Given the description of an element on the screen output the (x, y) to click on. 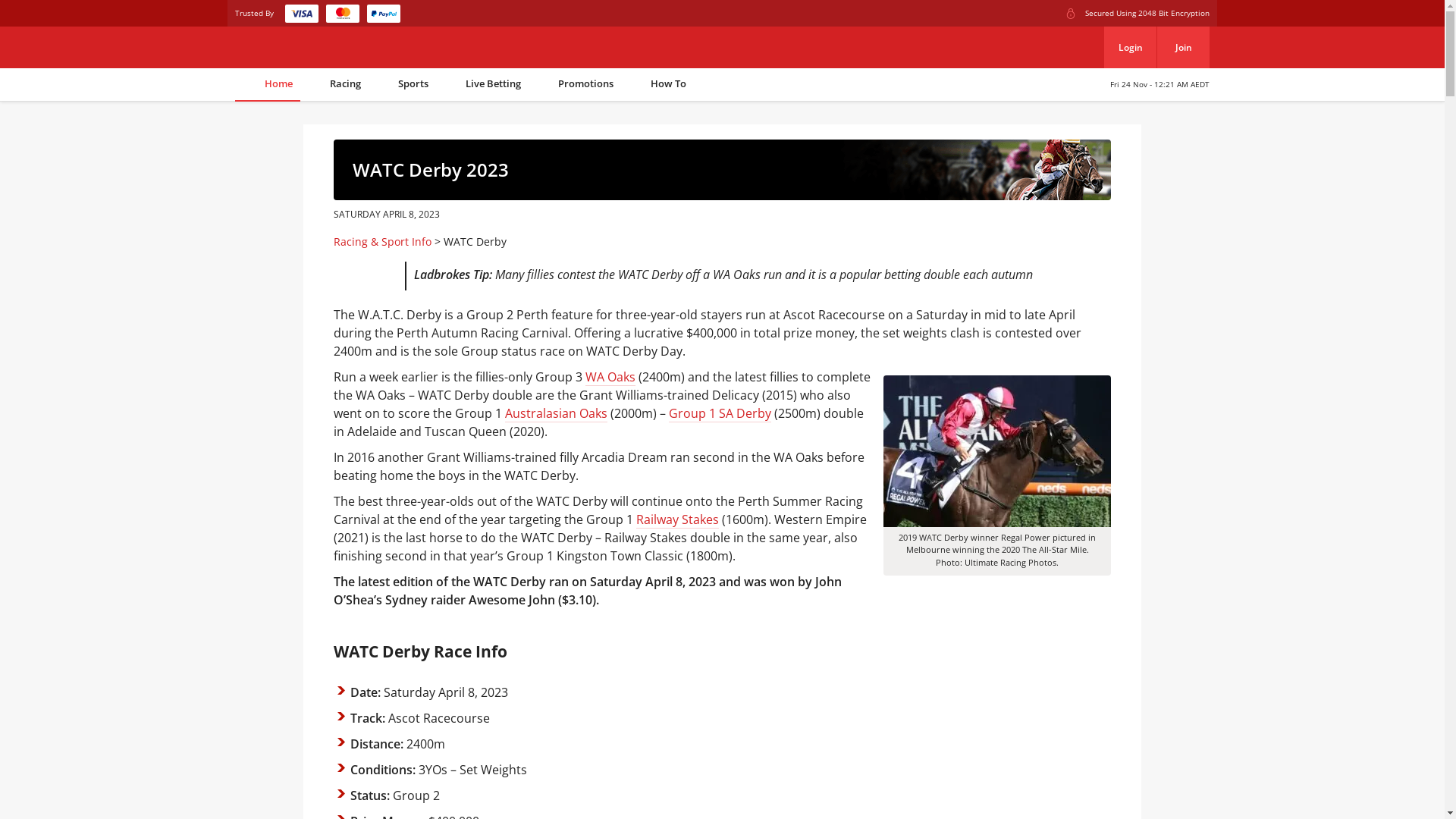
Railway Stakes Element type: text (677, 519)
Australasian Oaks Element type: text (556, 413)
Login Element type: text (1129, 47)
Group 1 SA Derby Element type: text (719, 413)
Racing Element type: text (334, 84)
Home Element type: text (267, 84)
Live Betting Element type: text (482, 84)
Racing & Sport Info Element type: text (382, 241)
WA Oaks Element type: text (610, 376)
How To Element type: text (657, 84)
Promotions Element type: text (574, 84)
Join Element type: text (1182, 47)
Sports Element type: text (402, 84)
